Given the description of an element on the screen output the (x, y) to click on. 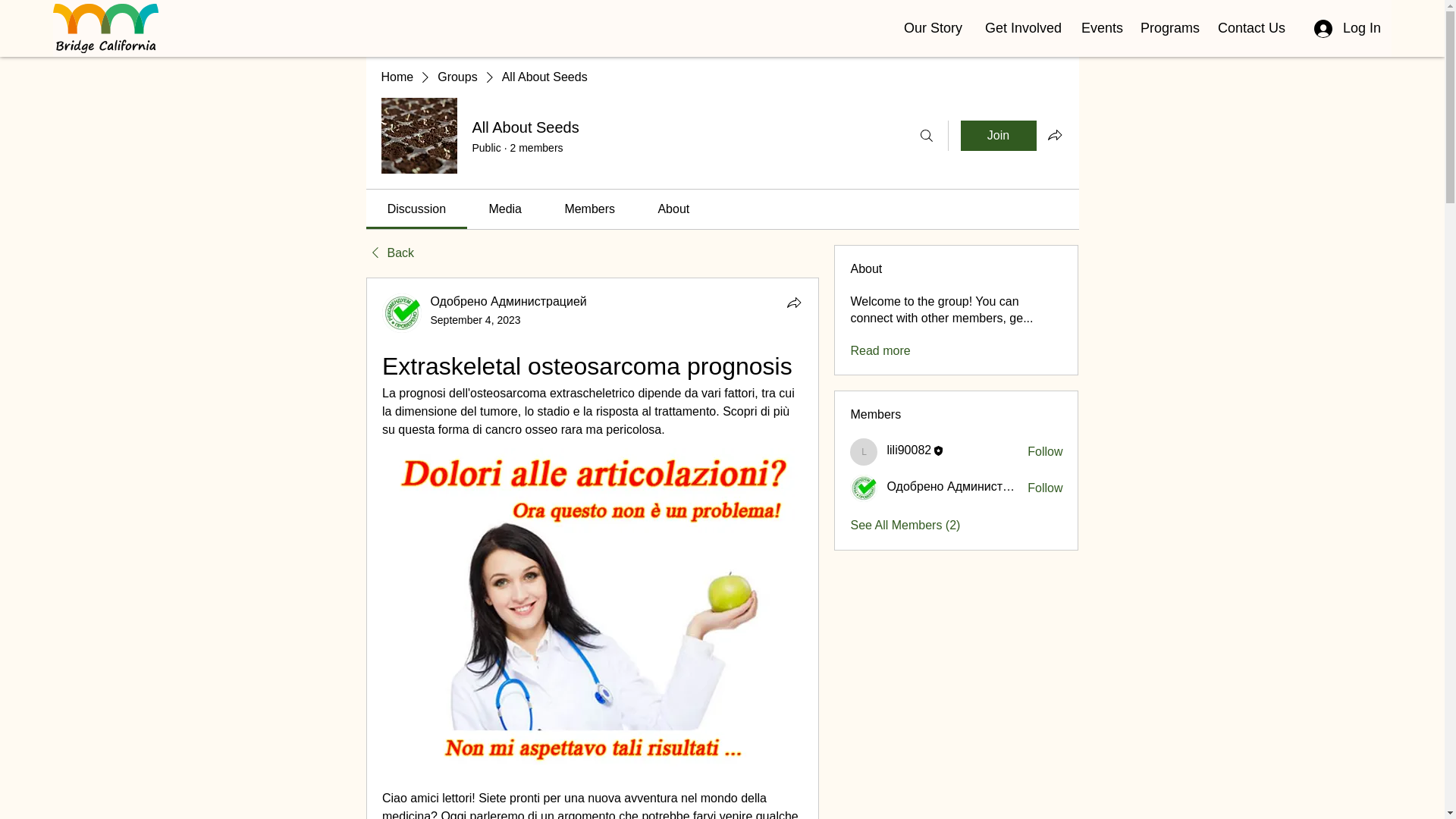
Our Story (933, 27)
Join (997, 135)
Log In (1347, 28)
Back (389, 252)
Home (396, 76)
September 4, 2023 (475, 319)
Read more (880, 351)
lili90082 (908, 449)
Get Involved (1022, 27)
Programs (1168, 27)
Contact Us (1250, 27)
Follow (1044, 487)
Events (1099, 27)
Groups (457, 76)
lili90082 (863, 452)
